Given the description of an element on the screen output the (x, y) to click on. 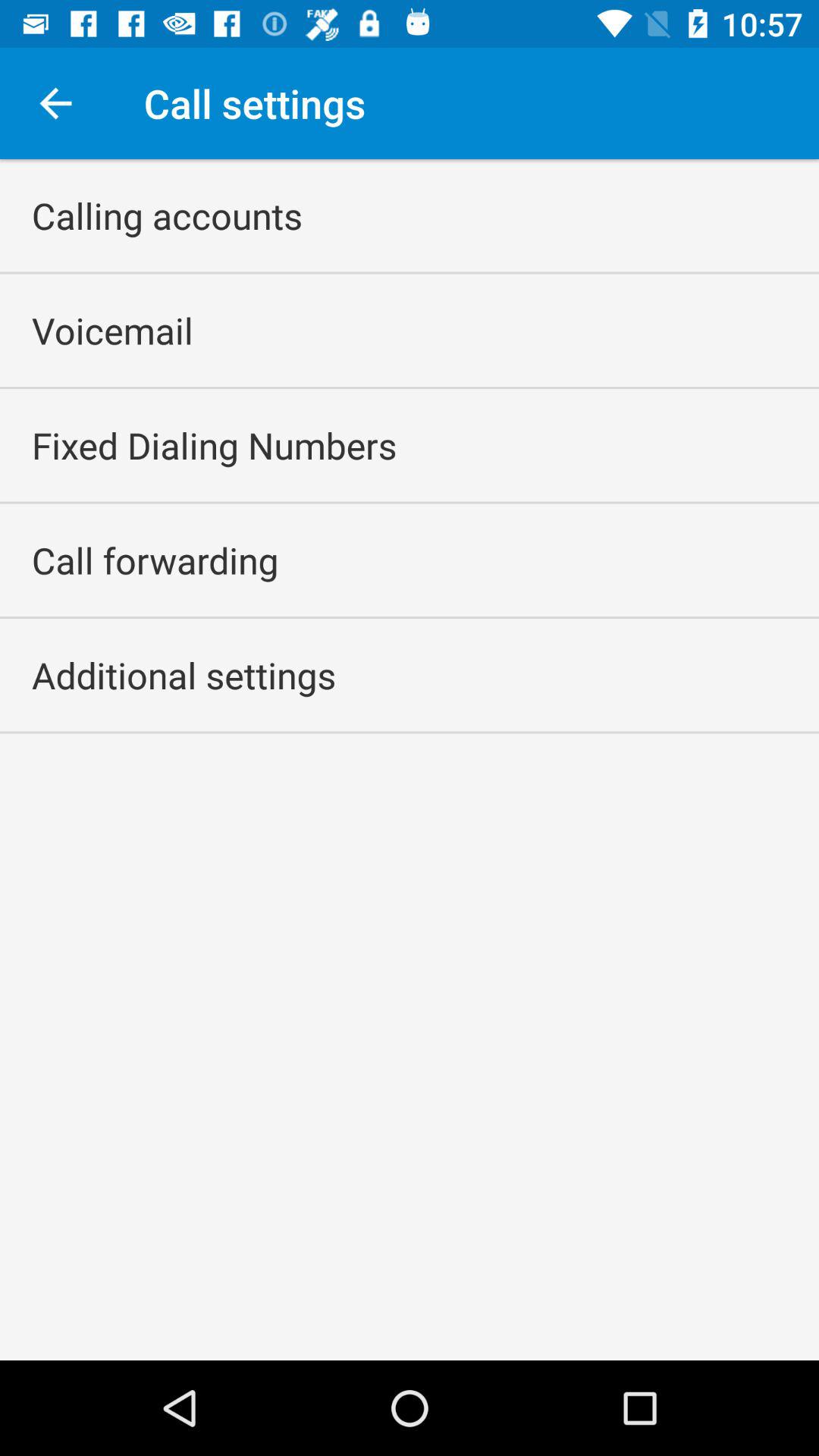
flip until the fixed dialing numbers (213, 444)
